Given the description of an element on the screen output the (x, y) to click on. 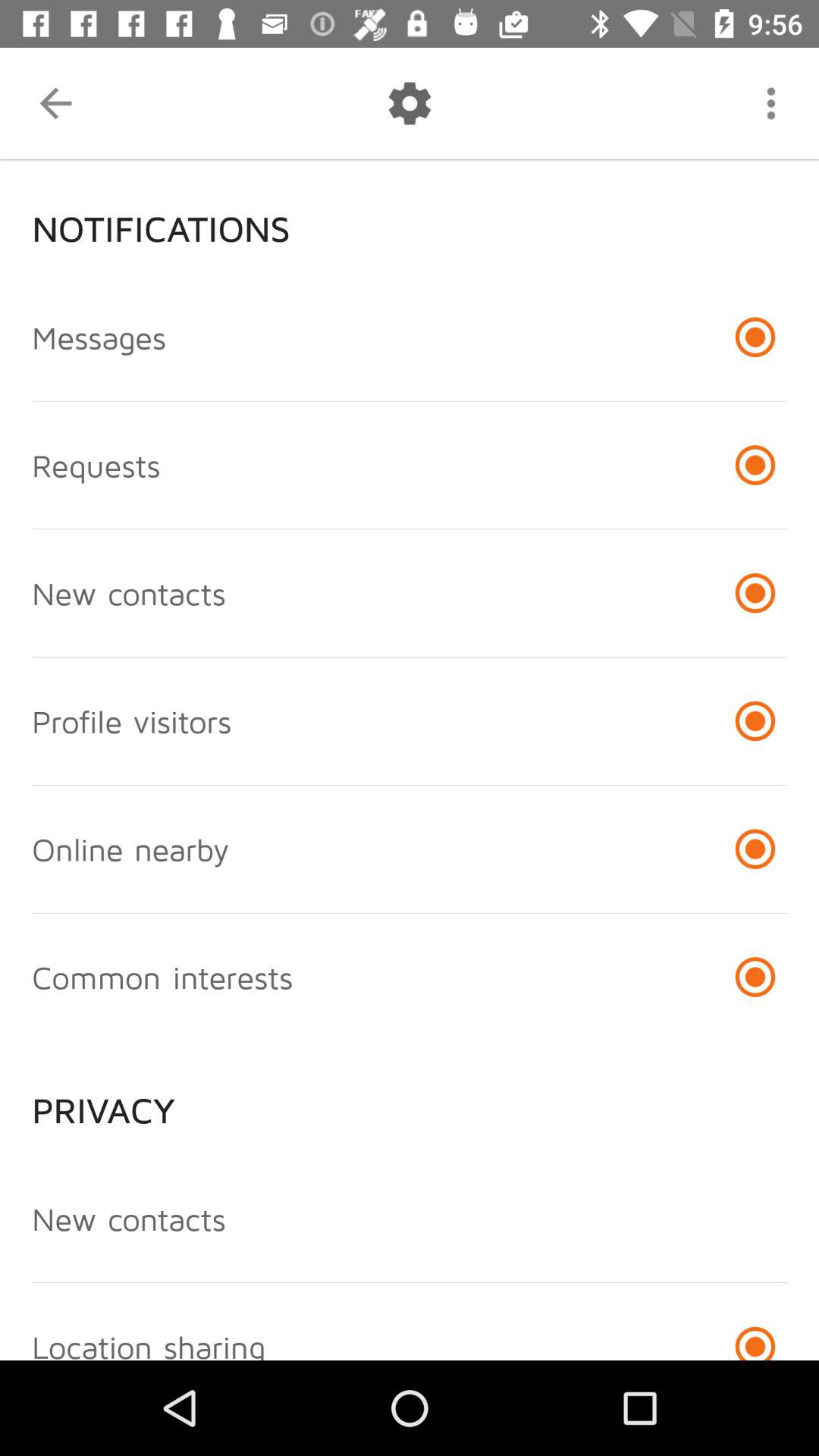
flip to the notifications item (409, 216)
